Given the description of an element on the screen output the (x, y) to click on. 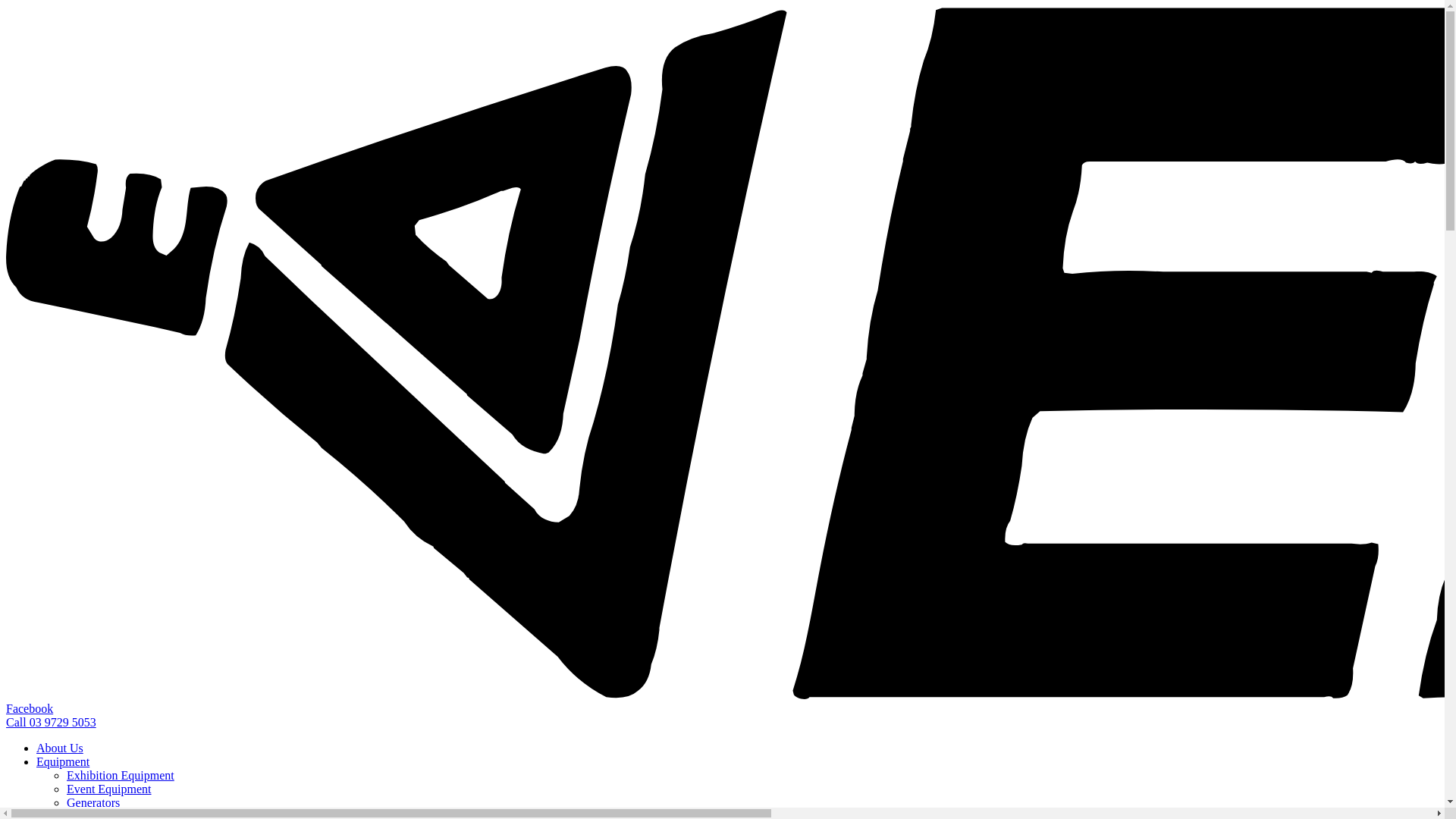
Event Equipment Element type: text (108, 788)
Generators Element type: text (92, 802)
Facebook Element type: text (29, 708)
Exhibition Equipment Element type: text (120, 774)
Equipment Element type: text (62, 761)
About Us Element type: text (59, 747)
Call 03 9729 5053 Element type: text (51, 721)
